Given the description of an element on the screen output the (x, y) to click on. 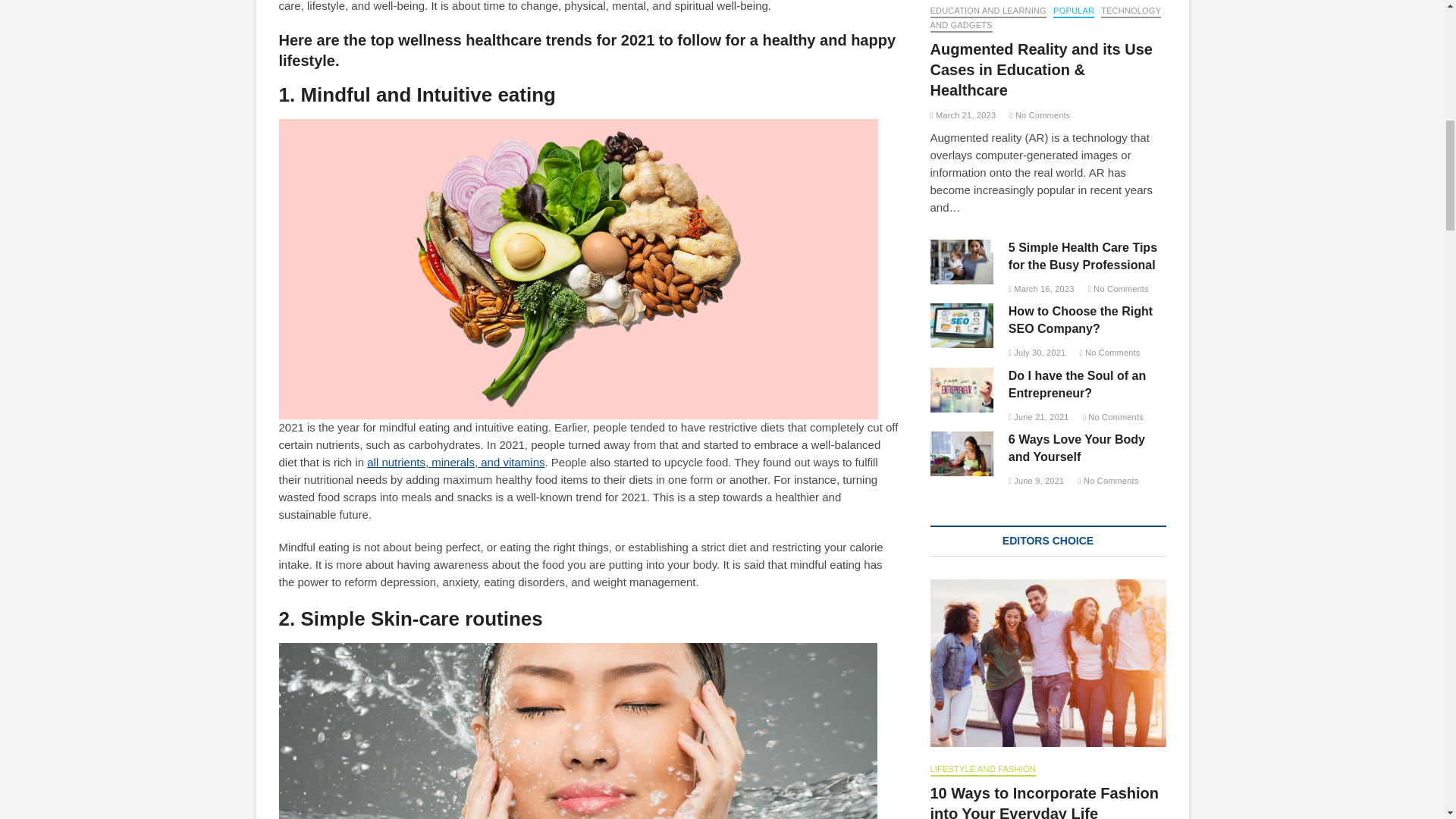
March 16, 2023 (1041, 288)
How to Choose the Right SEO Company? (1081, 319)
5 Simple Health Care Tips for the Busy Professional (961, 261)
How to Choose the Right SEO Company? (961, 325)
5 Simple Health Care Tips for the Busy Professional (1083, 255)
March 21, 2023 (962, 114)
